Given the description of an element on the screen output the (x, y) to click on. 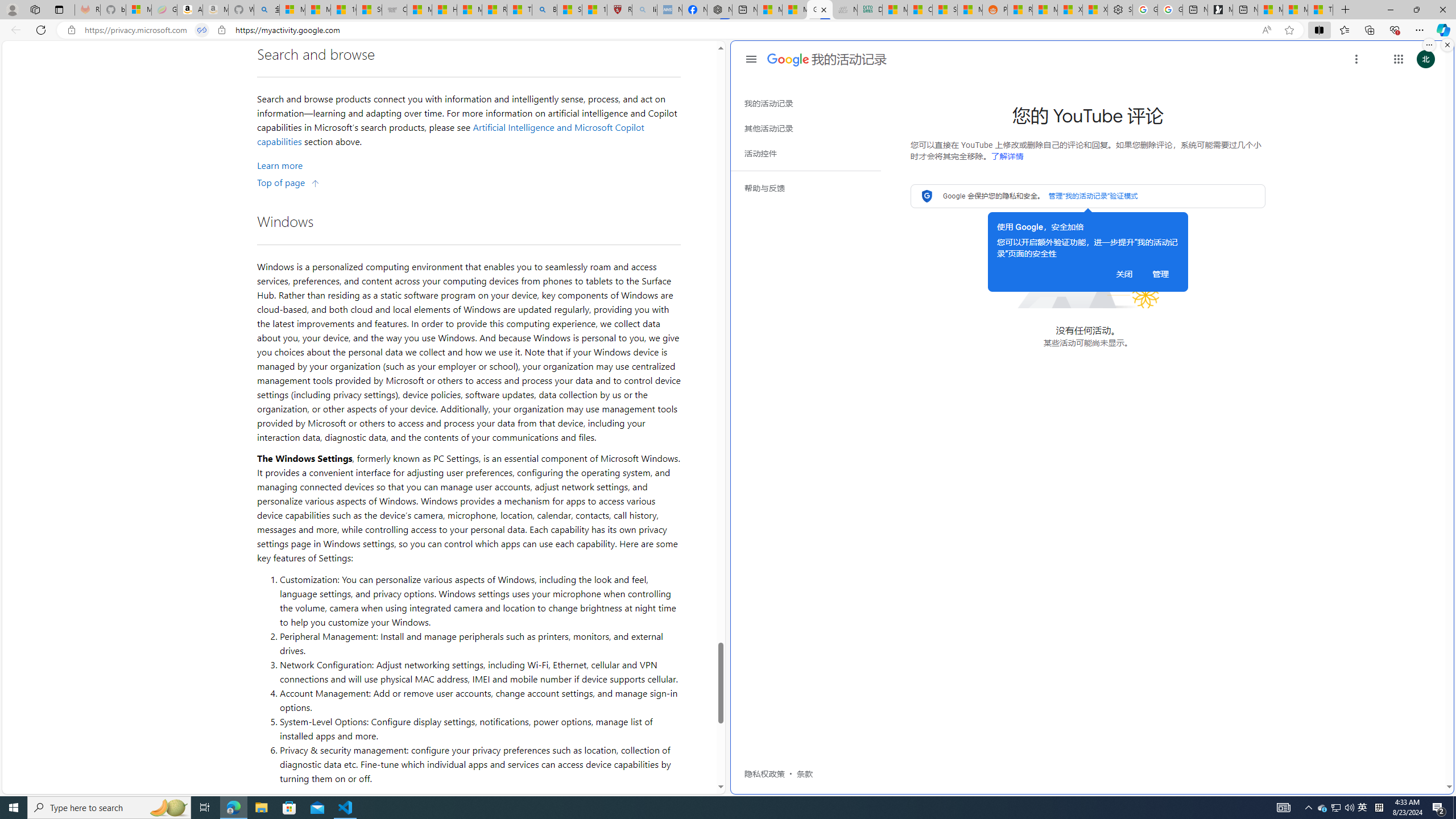
Split screen (1318, 29)
Restore (1416, 9)
Browser essentials (1394, 29)
Address and search bar (669, 29)
Learn More about Search and browse (279, 165)
Class: Xviznc NMm5M (1355, 59)
Combat Siege (394, 9)
DITOGAMES AG Imprint (869, 9)
Close tab (823, 9)
